Given the description of an element on the screen output the (x, y) to click on. 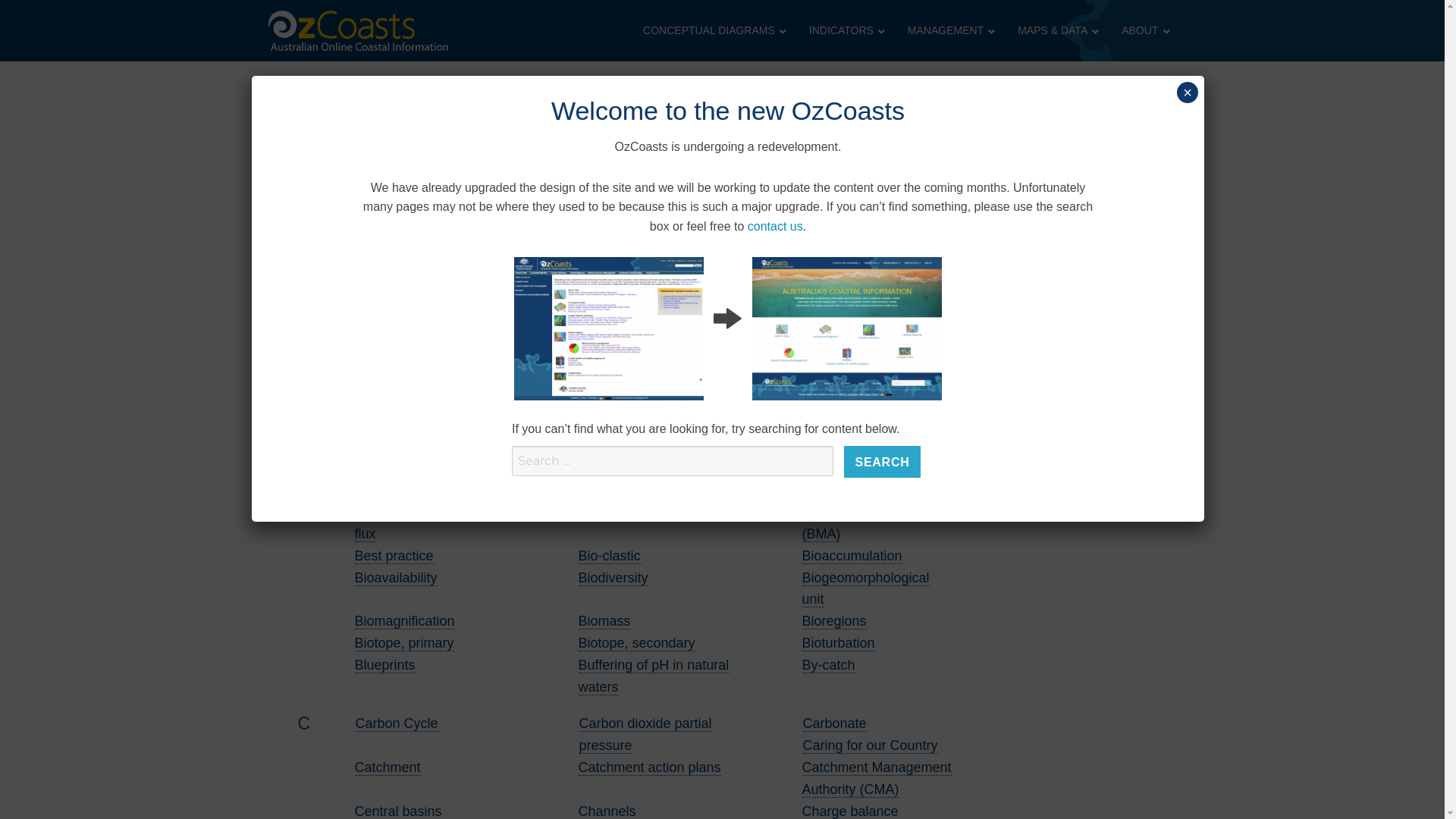
Beach face/foreshore Element type: text (419, 490)
Biogeomorphological unit Element type: text (865, 589)
contact us Element type: text (775, 225)
T Element type: text (609, 245)
Beach Element type: text (821, 468)
Carbon Cycle Element type: text (395, 723)
N Element type: text (520, 245)
Catchment action plans Element type: text (648, 767)
H Element type: text (436, 245)
SEARCH Element type: text (538, 191)
Alkalinity Element type: text (829, 322)
Carbon dioxide partial pressure Element type: text (645, 734)
MANAGEMENT Element type: text (947, 30)
P Element type: text (550, 245)
Assimilation Element type: text (838, 387)
OzCoasts Element type: text (313, 74)
Australia's Intensive Land Use Zone Element type: text (638, 420)
V Element type: text (638, 245)
M Element type: text (504, 245)
O Element type: text (535, 245)
Benthic Micro-Algae (BMA) Element type: text (863, 523)
Anoxic Element type: text (822, 344)
I Element type: text (449, 245)
Aerobic respiration Element type: text (411, 322)
Aeolian Element type: text (824, 300)
D Element type: text (377, 245)
Bioaccumulation Element type: text (852, 556)
Biodiversity Element type: text (612, 578)
L Element type: text (490, 245)
Bioregions Element type: text (834, 621)
Accretion Element type: text (607, 278)
S Element type: text (594, 245)
F Element type: text (406, 245)
Bedload Element type: text (602, 490)
Biomass Element type: text (603, 621)
J Element type: text (462, 245)
CONCEPTUAL DIAGRAMS Element type: text (710, 30)
ABSAMP Element type: text (382, 278)
E Element type: text (391, 245)
Benthic Element type: text (824, 490)
Catchment Element type: text (387, 767)
Biomagnification Element type: text (404, 621)
C Element type: text (362, 245)
A Element type: text (332, 245)
Q Element type: text (565, 245)
Best practice Element type: text (393, 556)
Carbonate Element type: text (834, 723)
Bioavailability Element type: text (395, 578)
MAPS & DATA Element type: text (1054, 30)
ALL Element type: text (293, 245)
INDICATORS Element type: text (842, 30)
G Element type: text (420, 245)
K Element type: text (475, 245)
0-9 Element type: text (314, 245)
Aspartic acid racemisation Element type: text (616, 376)
Advection Element type: text (607, 300)
Aquifer Element type: text (376, 365)
U Element type: text (624, 245)
Algal blooms Element type: text (616, 322)
(clear) Element type: text (610, 195)
Baffling Element type: text (601, 468)
Adaptive management Element type: text (422, 300)
R Element type: text (581, 245)
Biotope, primary Element type: text (404, 643)
Buffering of pH in natural waters Element type: text (652, 676)
Ammonium Element type: text (388, 344)
Backscatter Element type: text (390, 468)
Australian Beach Safety & Management Program Element type: text (428, 420)
Y Element type: text (684, 245)
Z Element type: text (698, 245)
Biotope, secondary Element type: text (635, 643)
Blueprints Element type: text (384, 665)
Bioturbation Element type: text (838, 643)
Benthic carbon dioxide flux Element type: text (423, 523)
Catchment Management Authority (CMA) Element type: text (876, 778)
ABOUT Element type: text (1141, 30)
X Element type: text (669, 245)
B Element type: text (346, 245)
By-catch Element type: text (828, 665)
Acid sulfate soils Element type: text (852, 278)
Asset Element type: text (819, 365)
W Element type: text (654, 245)
Caring for our Country Element type: text (869, 745)
Bio-clastic Element type: text (608, 556)
Search Element type: text (881, 461)
Benthic invertebrates Element type: text (641, 512)
Anoxia Element type: text (598, 344)
